Given the description of an element on the screen output the (x, y) to click on. 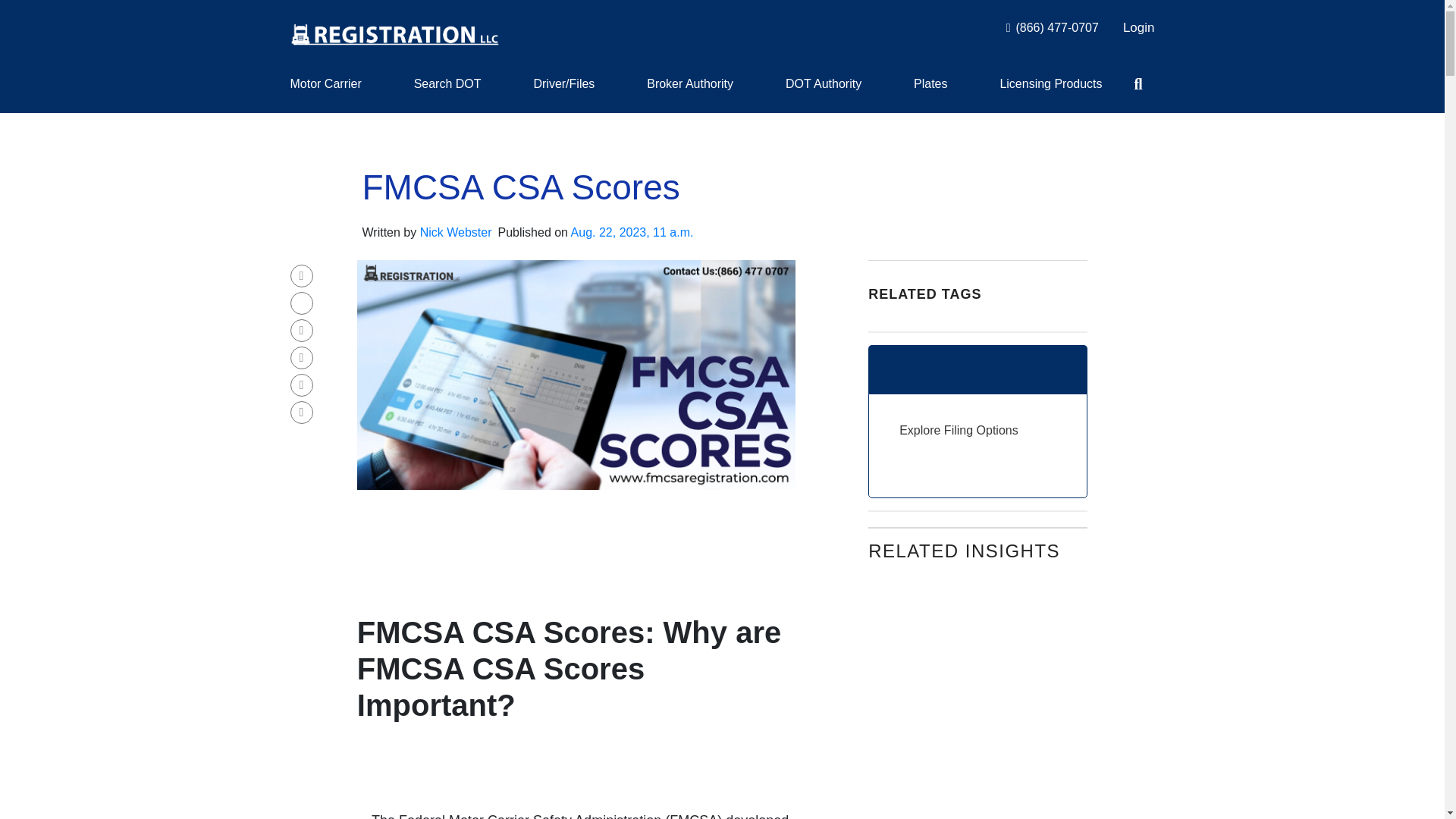
Login (1138, 27)
Motor Carrier (325, 83)
DOT Authority (823, 83)
Plates (930, 83)
Nick Webster (456, 232)
Aug. 22, 2023, 11 a.m. (632, 232)
Licensing Products (1050, 83)
Search DOT (447, 83)
Broker Authority (689, 83)
